Given the description of an element on the screen output the (x, y) to click on. 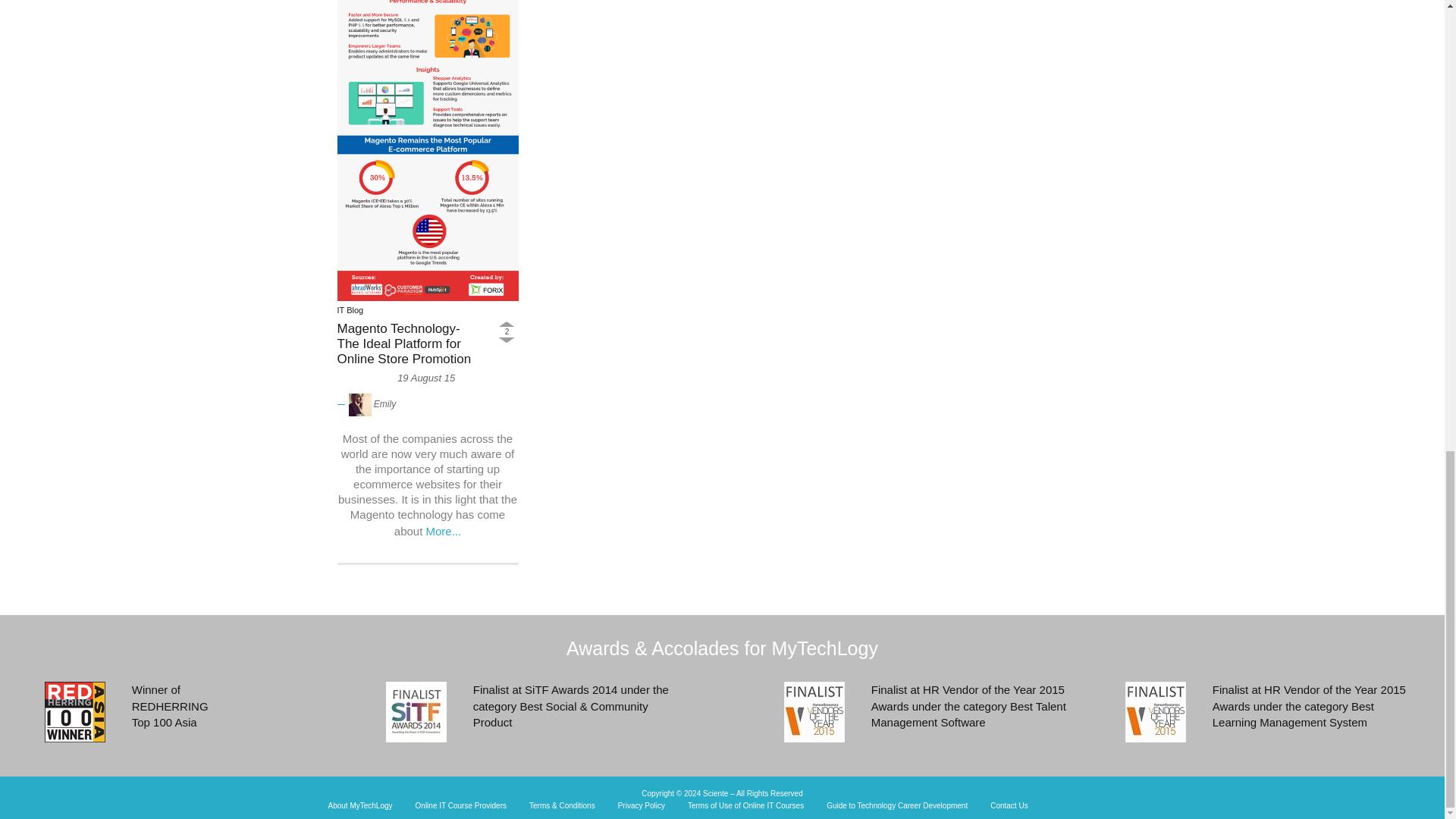
About MyTechLogy (359, 805)
This post is unclear and not useful (506, 340)
Contact Us (1008, 805)
More... (443, 530)
About MyTechLogy (359, 805)
Privacy Policy (641, 805)
Terms of Use of Online IT Courses (745, 805)
Guide to Technology Career Development (897, 805)
This post is useful (506, 323)
